Given the description of an element on the screen output the (x, y) to click on. 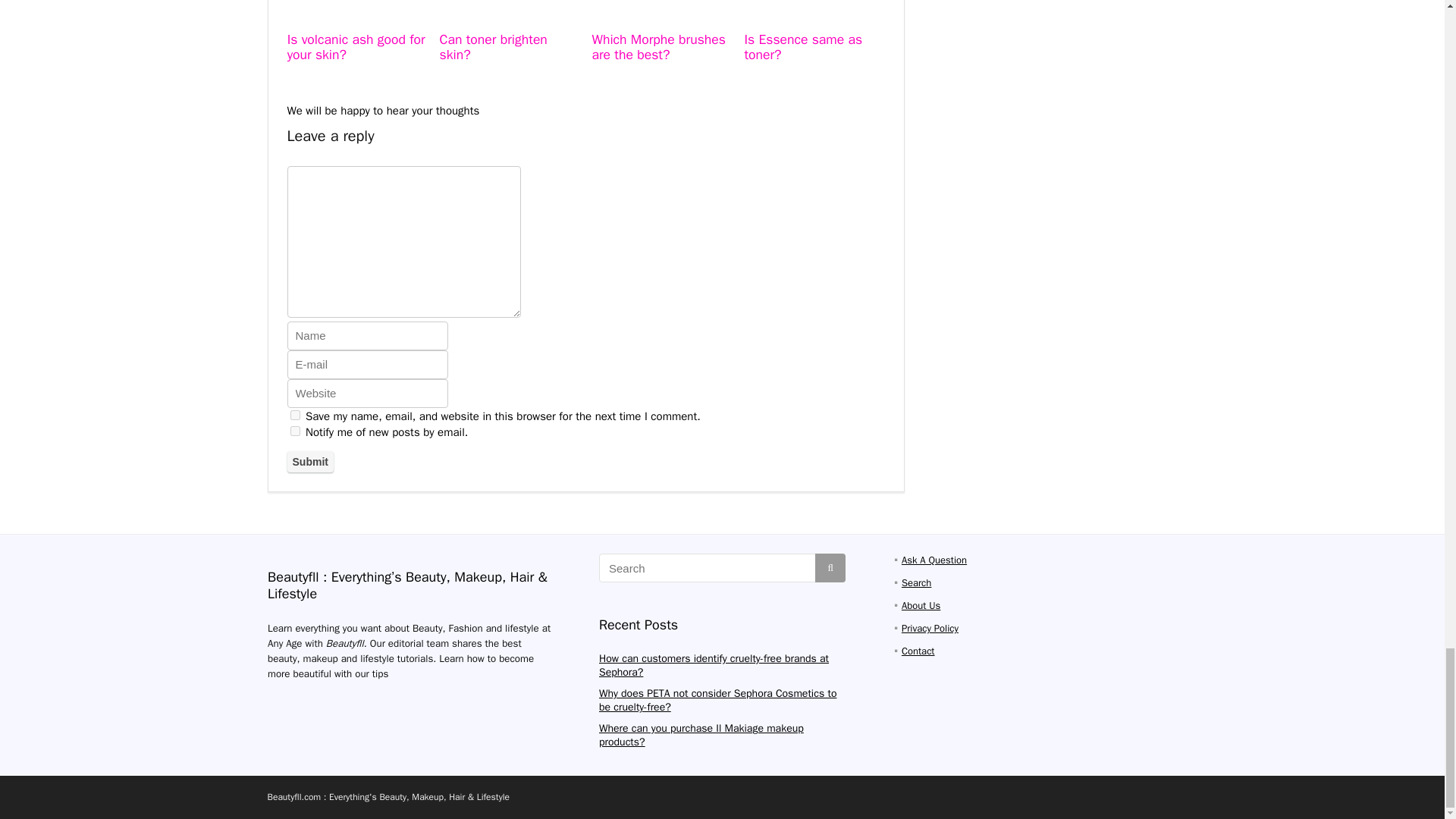
Can toner brighten skin? (493, 47)
Submit (309, 461)
Is volcanic ash good for your skin? (355, 47)
Which Morphe brushes are the best? (658, 47)
Is Essence same as toner? (802, 47)
yes (294, 415)
Submit (309, 461)
subscribe (294, 430)
